Given the description of an element on the screen output the (x, y) to click on. 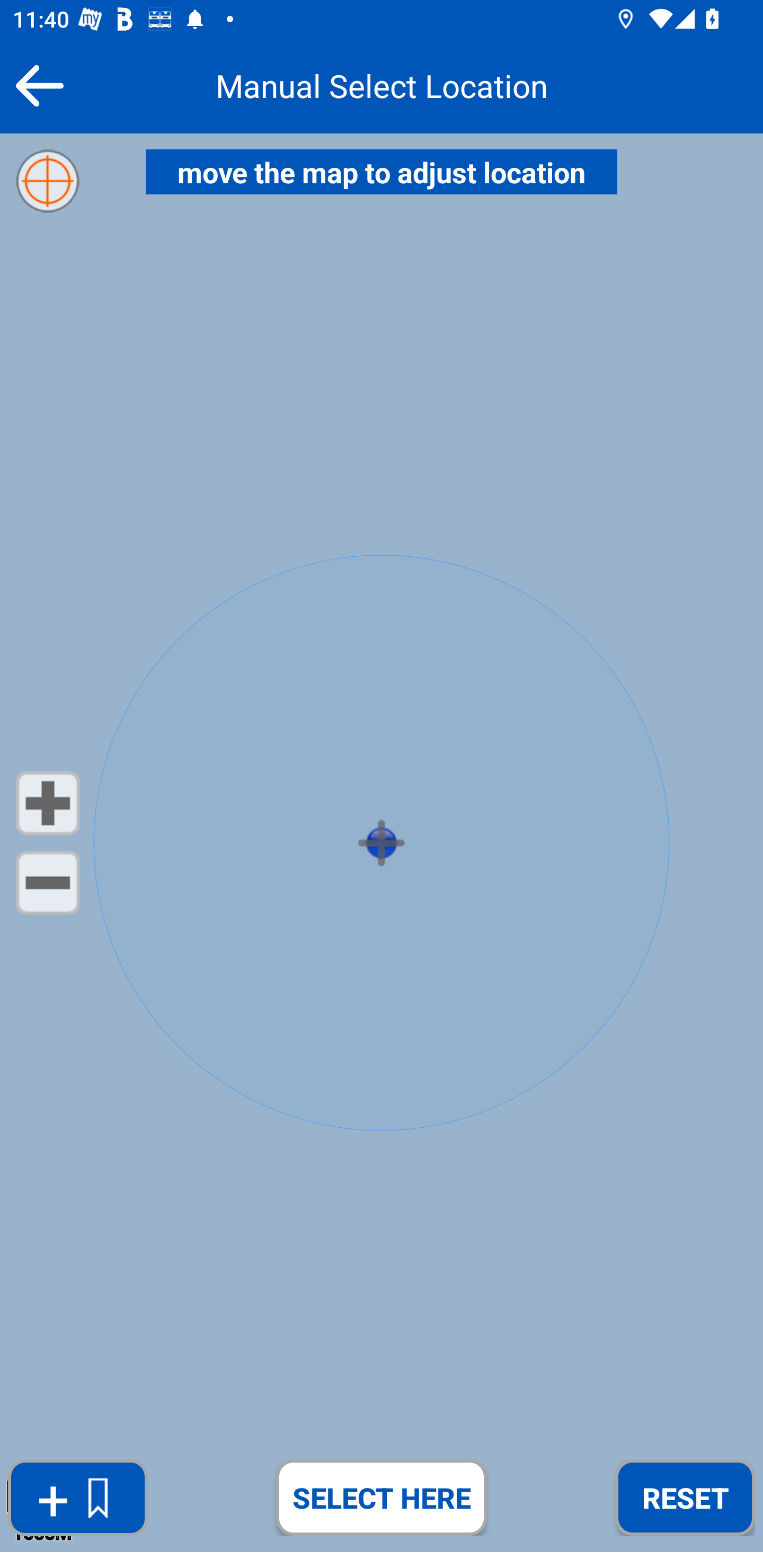
Back (39, 85)
Add bookmark (77, 1497)
SELECT HERE (381, 1497)
RESET (684, 1497)
